Given the description of an element on the screen output the (x, y) to click on. 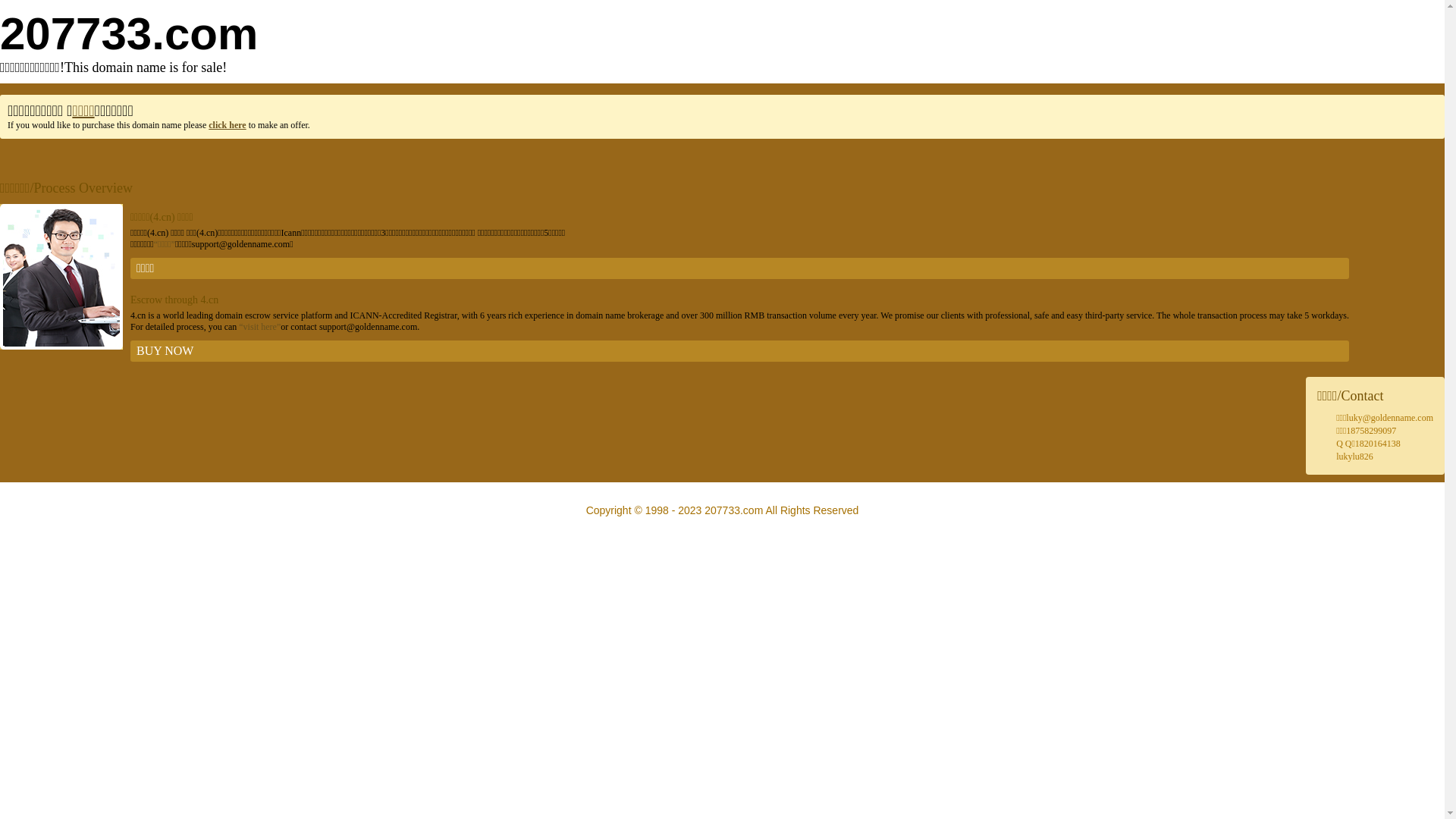
click here Element type: text (226, 124)
BUY NOW Element type: text (739, 350)
